Given the description of an element on the screen output the (x, y) to click on. 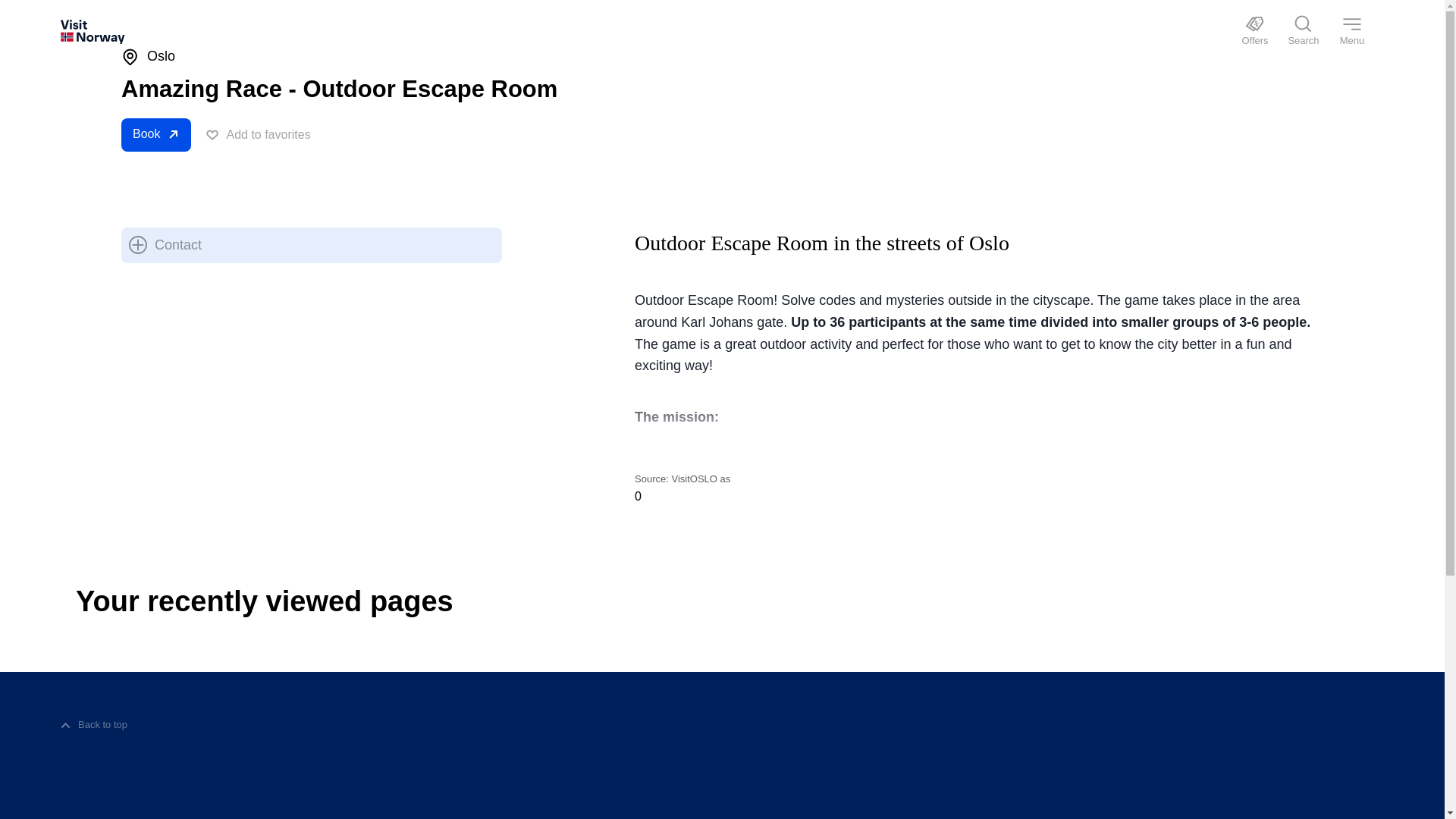
Search (1303, 31)
Offers (1255, 31)
Book (155, 134)
Back to top (94, 725)
Contact (165, 245)
Menu (1351, 31)
Add to favorites (258, 134)
